Given the description of an element on the screen output the (x, y) to click on. 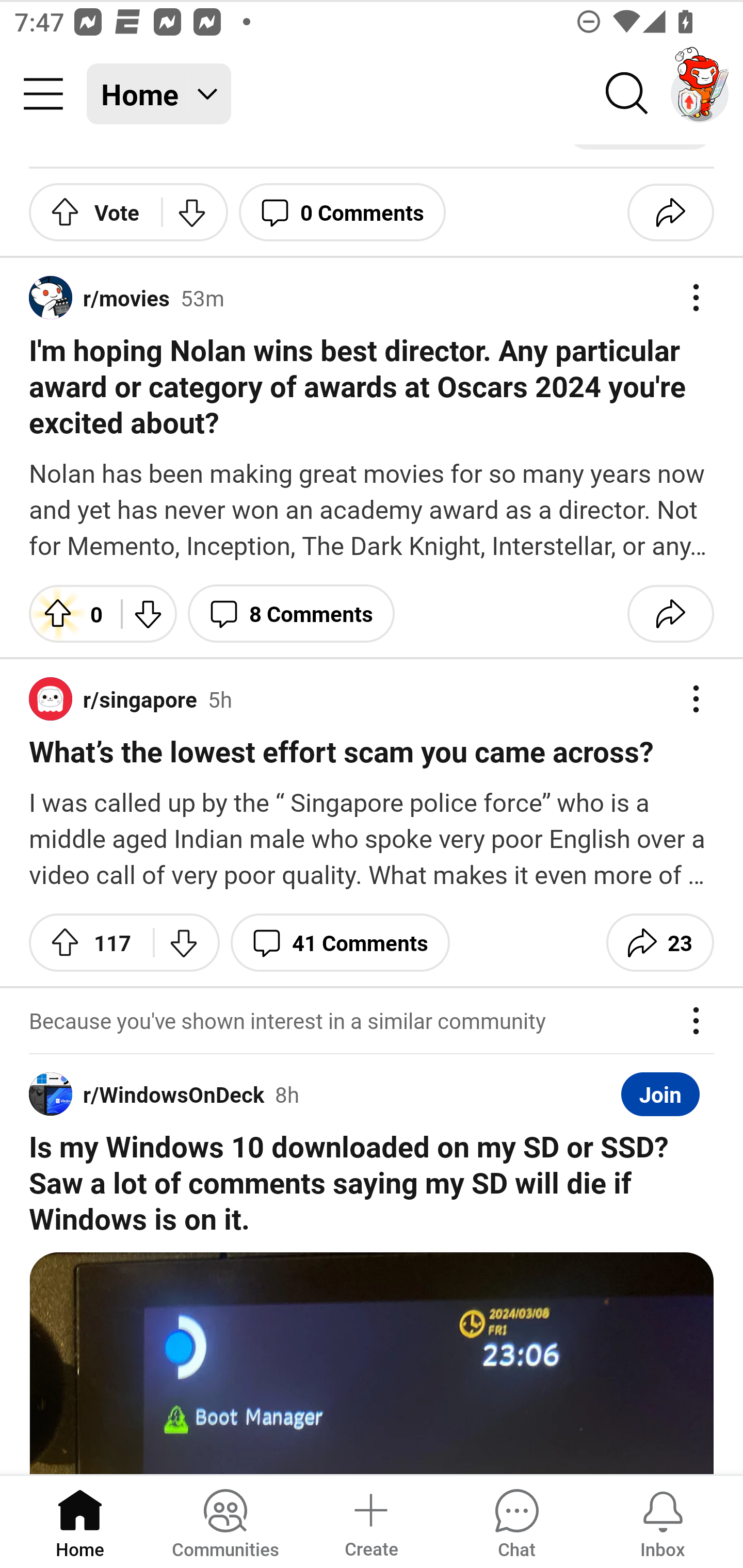
Community menu (43, 93)
Home Home feed (158, 93)
Search (626, 93)
TestAppium002 account (699, 93)
Home (80, 1520)
Communities (225, 1520)
Create a post Create (370, 1520)
Chat (516, 1520)
Inbox (662, 1520)
